Given the description of an element on the screen output the (x, y) to click on. 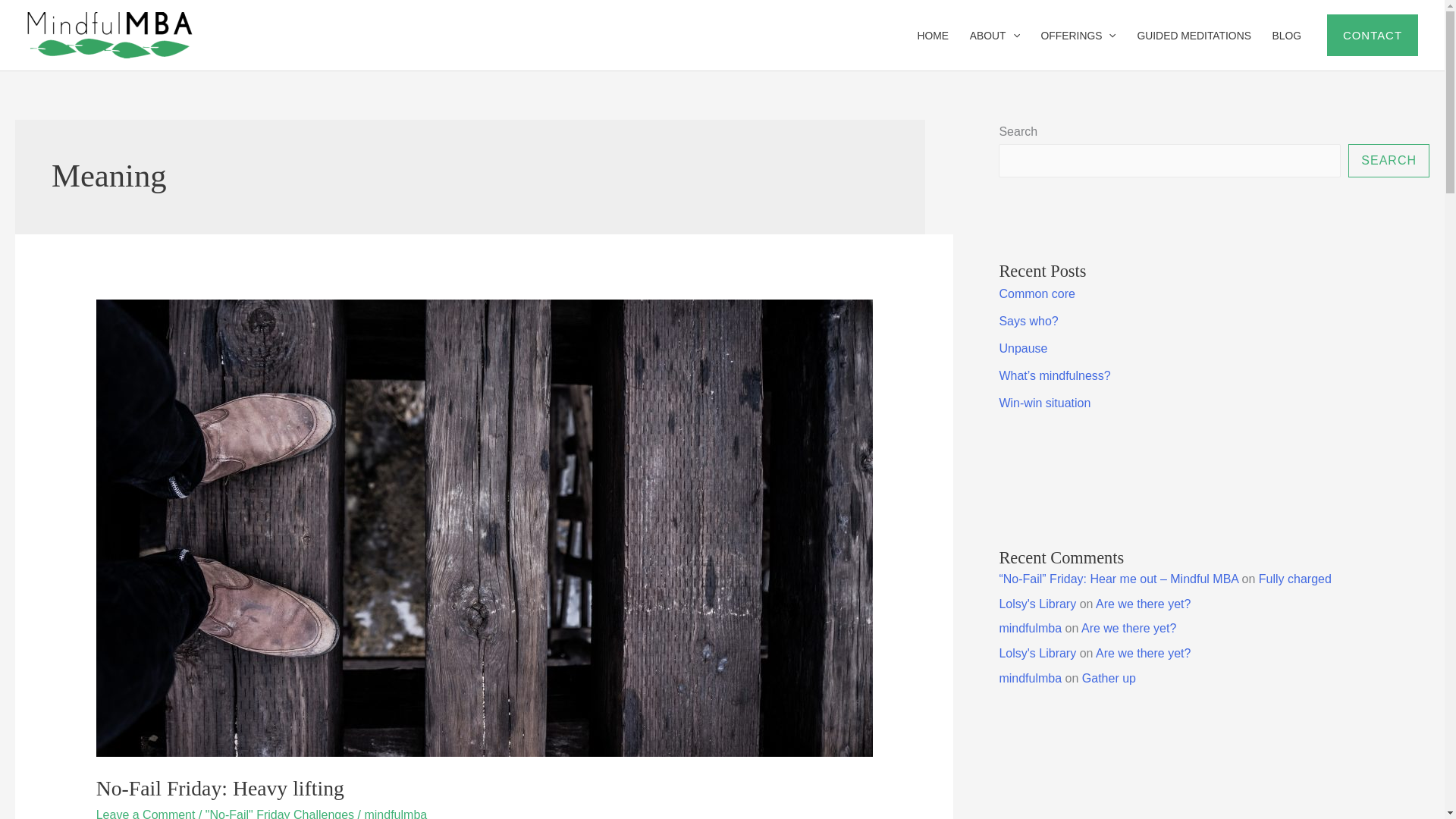
"No-Fail" Friday Challenges (279, 813)
Leave a Comment (145, 813)
CONTACT (1372, 35)
No-Fail Friday: Heavy lifting (219, 788)
mindfulmba (395, 813)
View all posts by mindfulmba (395, 813)
GUIDED MEDITATIONS (1194, 35)
ABOUT (994, 35)
OFFERINGS (1078, 35)
